Given the description of an element on the screen output the (x, y) to click on. 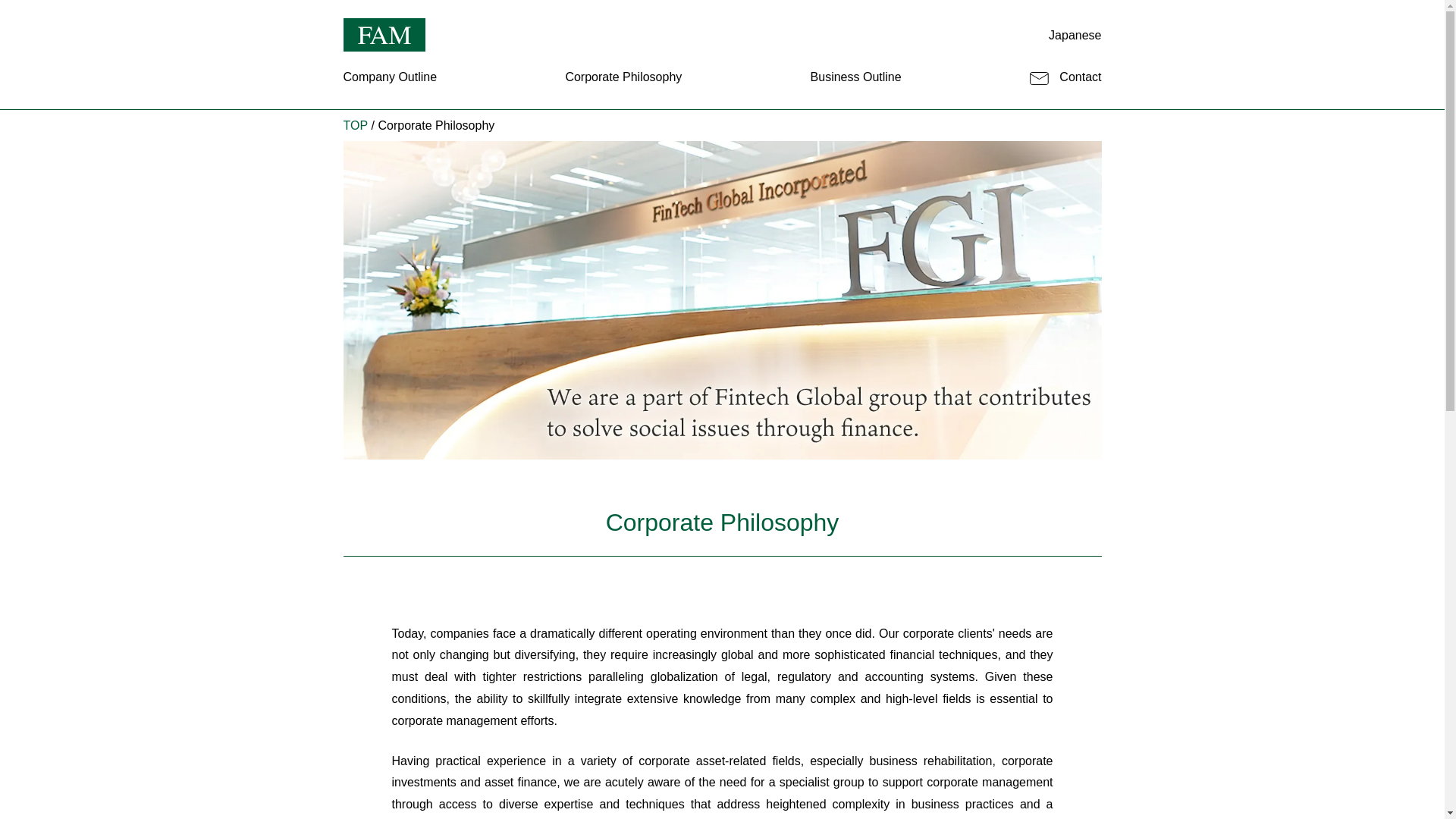
Corporate Philosophy (622, 76)
TOP (355, 124)
Business Outline (855, 76)
Company Outline (389, 76)
Contact (1065, 76)
Japanese (1074, 35)
